Given the description of an element on the screen output the (x, y) to click on. 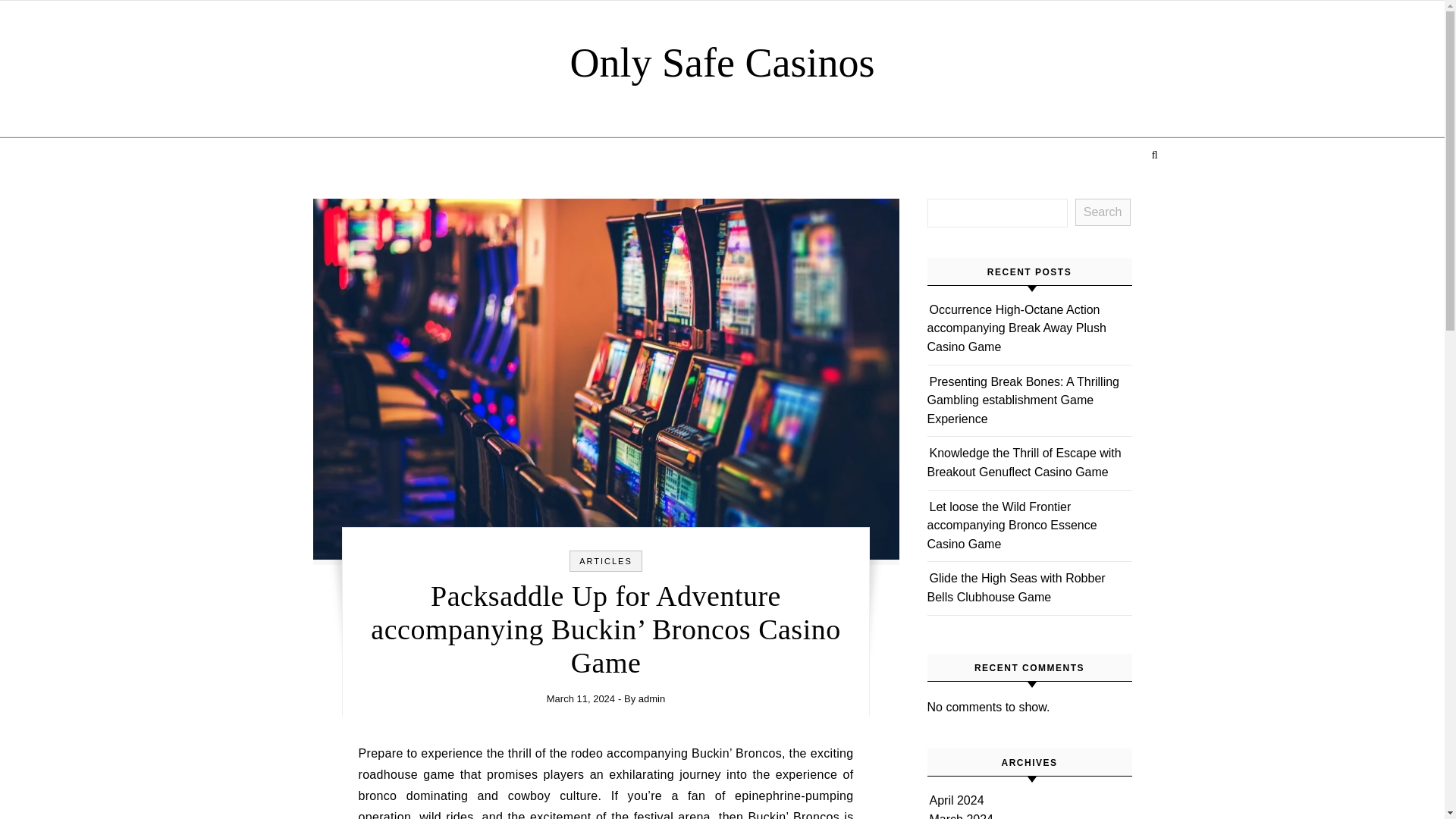
Glide the High Seas with Robber Bells Clubhouse Game (1015, 587)
Search (1103, 212)
ARTICLES (605, 560)
April 2024 (957, 799)
March 2024 (962, 816)
admin (652, 698)
Only Safe Casinos (722, 62)
Posts by admin (652, 698)
